Given the description of an element on the screen output the (x, y) to click on. 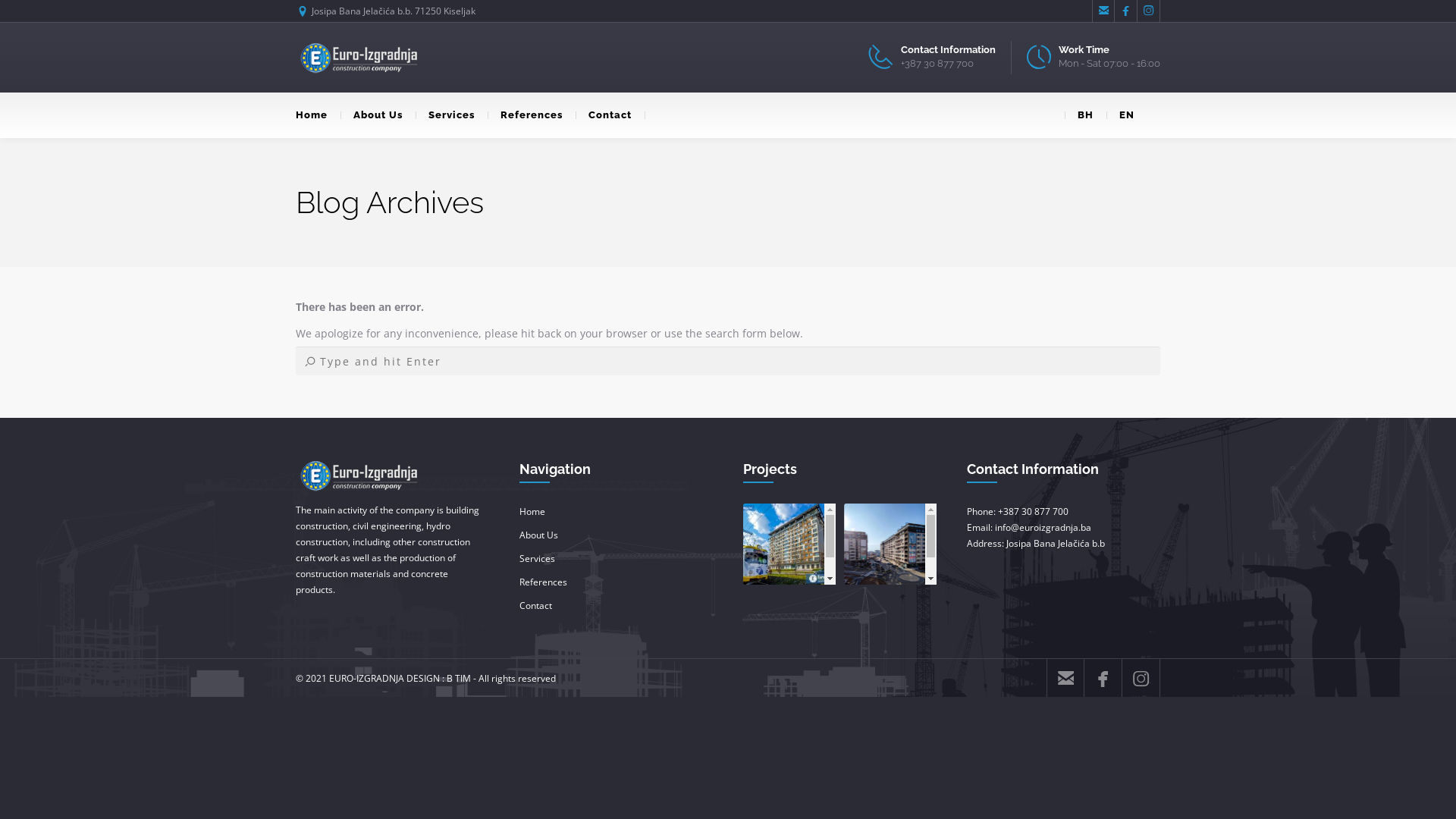
Contact Element type: text (535, 605)
BH Element type: text (1085, 115)
Contact Element type: text (609, 115)
About Us Element type: text (377, 115)
EN Element type: text (1126, 115)
References Element type: text (531, 115)
Home Element type: text (317, 115)
References Element type: text (543, 581)
Home Element type: text (532, 511)
Services Element type: text (537, 558)
Services Element type: text (451, 115)
About Us Element type: text (538, 534)
